Given the description of an element on the screen output the (x, y) to click on. 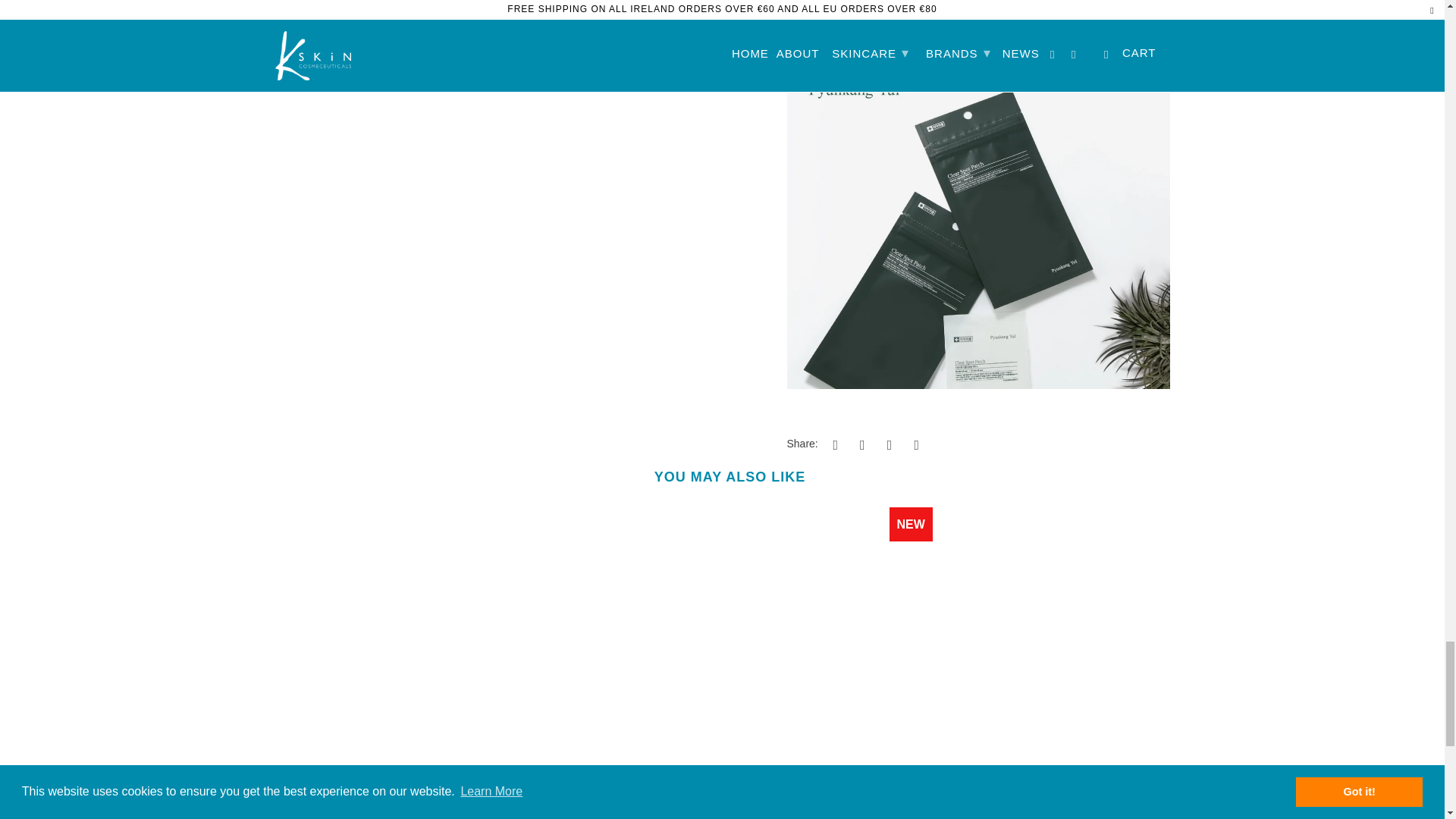
Share this on Facebook (859, 444)
Share this on Twitter (833, 444)
Share this on Pinterest (887, 444)
Email this to a friend (914, 444)
